Given the description of an element on the screen output the (x, y) to click on. 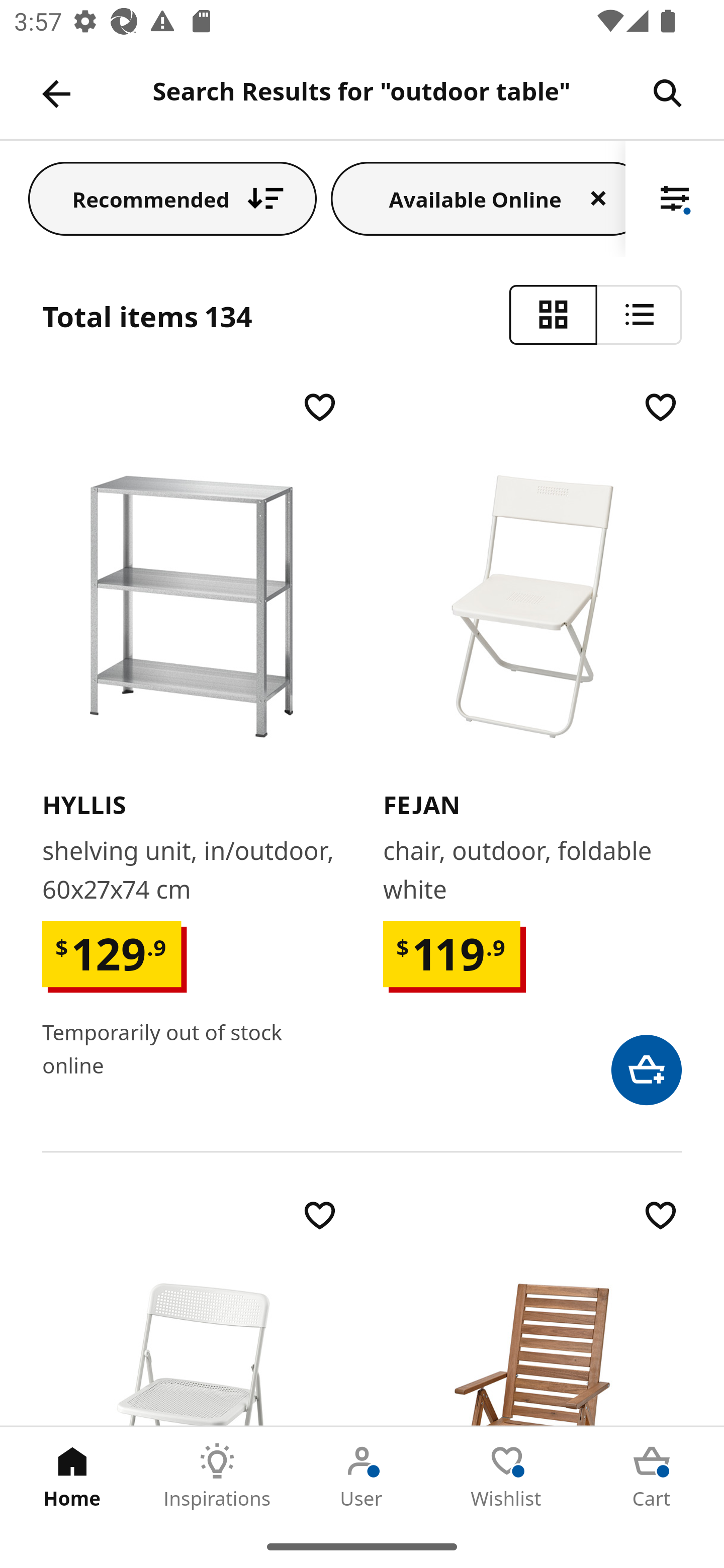
Recommended (172, 198)
Available Online (477, 198)
Home
Tab 1 of 5 (72, 1476)
Inspirations
Tab 2 of 5 (216, 1476)
User
Tab 3 of 5 (361, 1476)
Wishlist
Tab 4 of 5 (506, 1476)
Cart
Tab 5 of 5 (651, 1476)
